Given the description of an element on the screen output the (x, y) to click on. 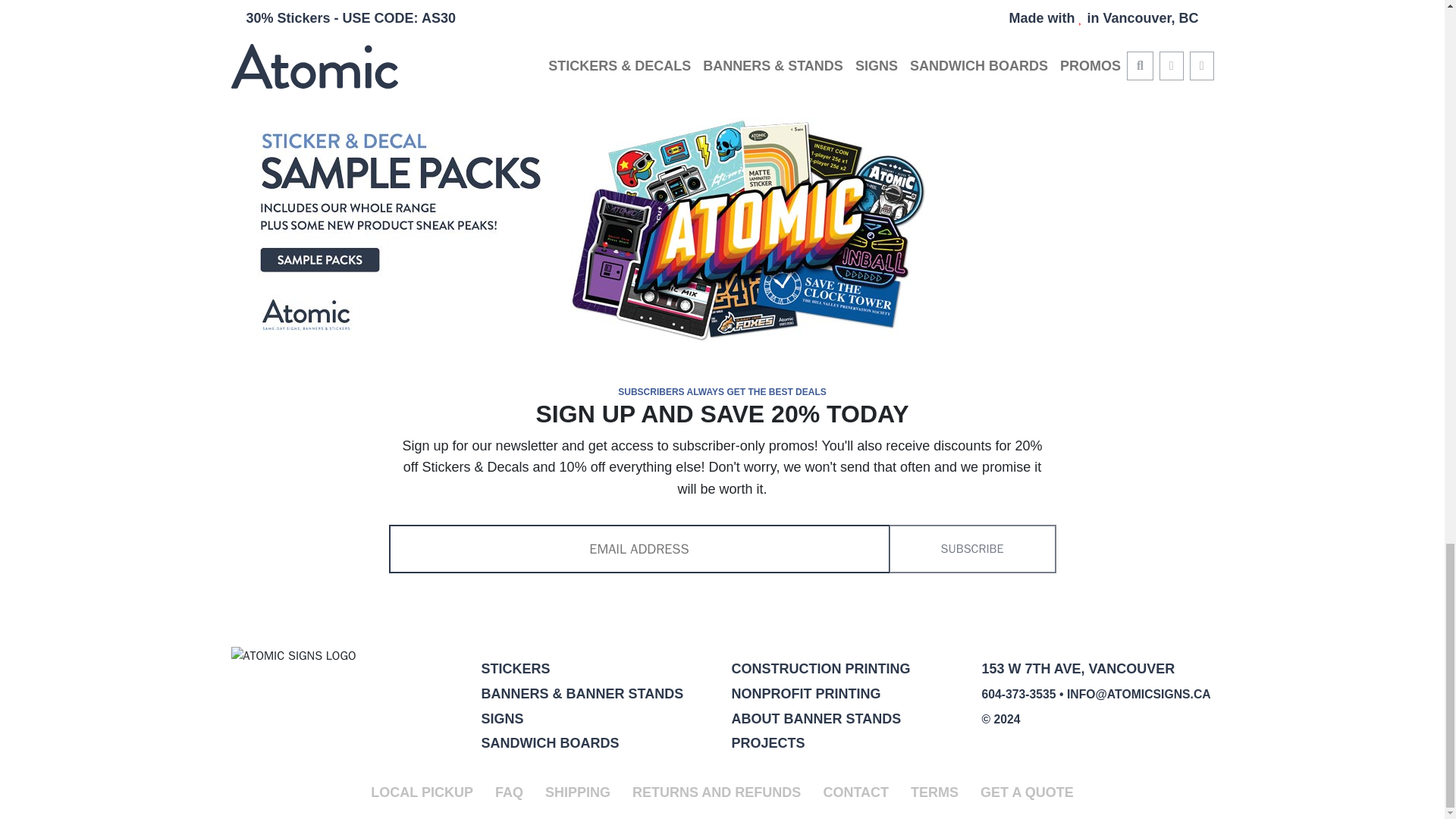
604-373-3535 (1018, 694)
NONPROFIT PRINTING (805, 693)
Subscribe (971, 548)
CONSTRUCTION PRINTING (820, 668)
SANDWICH BOARDS (549, 743)
PROJECTS (767, 743)
SIGNS (501, 718)
ABOUT BANNER STANDS (815, 718)
STICKERS (515, 668)
Subscribe (971, 548)
